Given the description of an element on the screen output the (x, y) to click on. 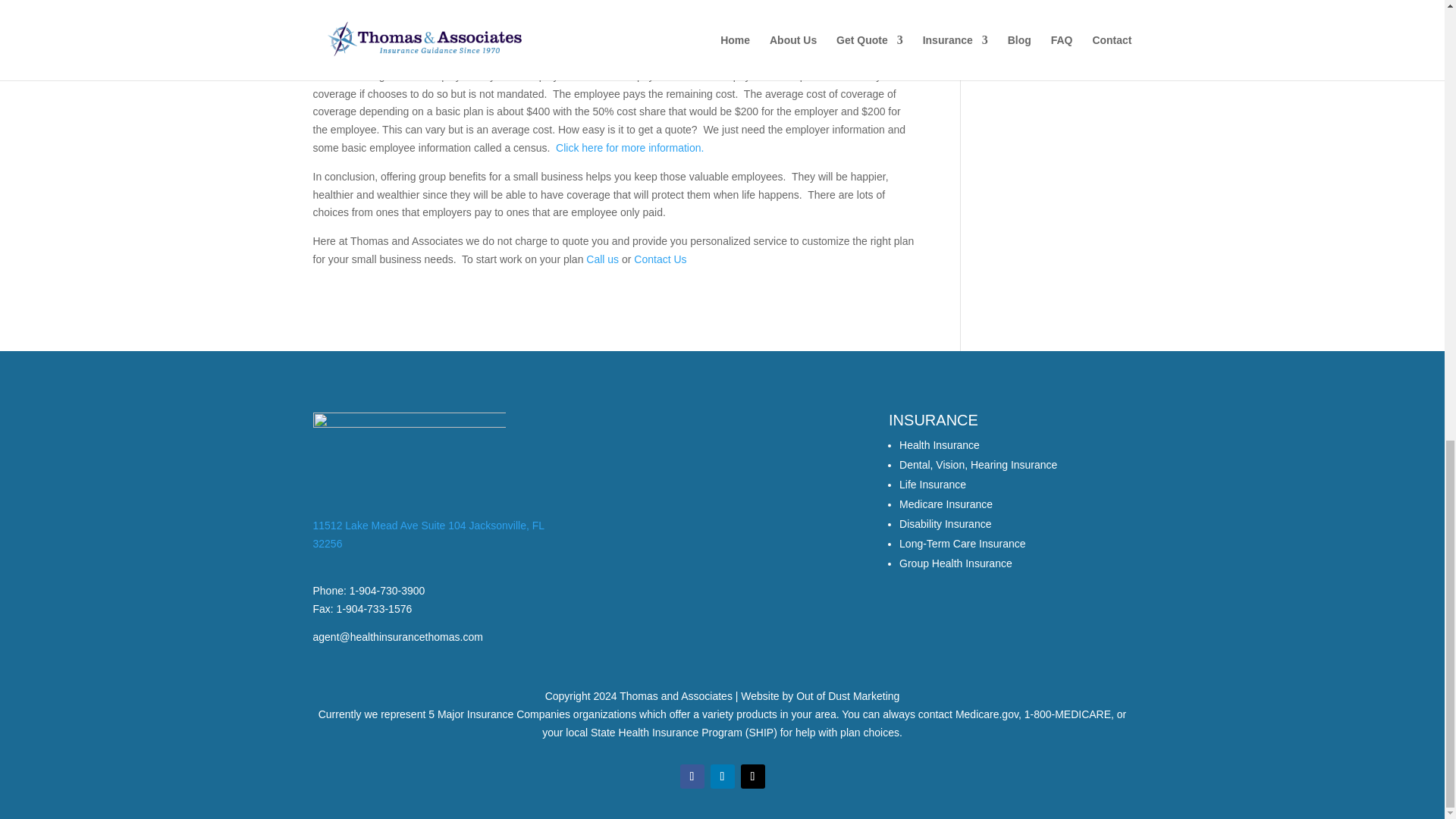
Contact Us (659, 259)
Follow on Facebook (691, 776)
Follow on LinkedIn (721, 776)
11512 Lake Mead Ave Suite 104 Jacksonville, FL 32256 (428, 534)
Call us (602, 259)
Follow on X (751, 776)
Click here for more information. (629, 147)
email us (397, 636)
